Given the description of an element on the screen output the (x, y) to click on. 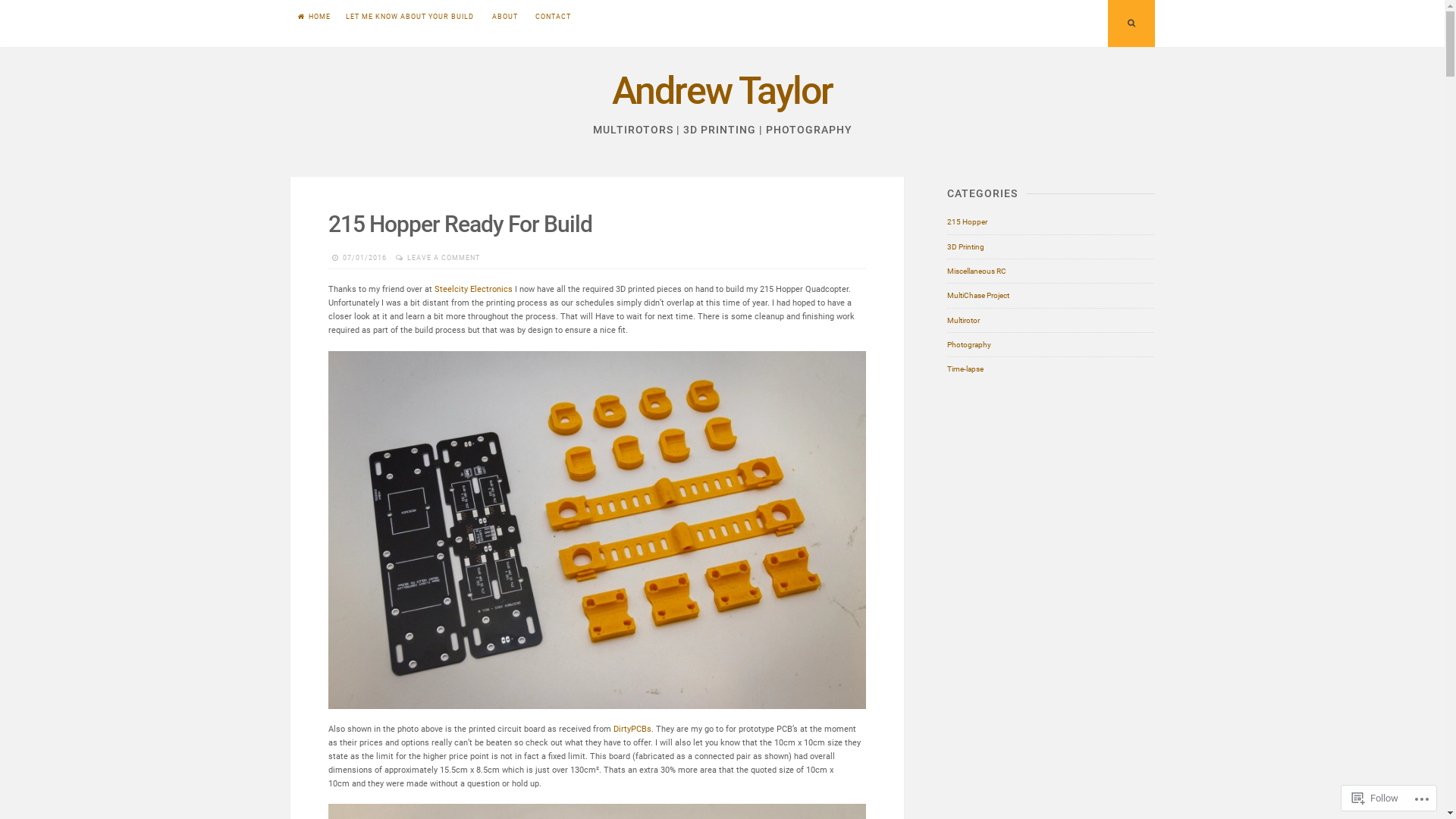
Miscellaneous RC Element type: text (976, 271)
07/01/2016 Element type: text (364, 257)
Follow Element type: text (1375, 797)
Andrew Taylor Element type: text (721, 90)
DirtyPCBs Element type: text (632, 729)
HOME Element type: text (313, 16)
215 Hopper Ready For Build Element type: text (460, 223)
Steelcity Electronics Element type: text (473, 289)
Time-lapse Element type: text (965, 369)
MultiChase Project Element type: text (978, 295)
Photography Element type: text (969, 344)
215 Hopper Element type: text (967, 222)
ABOUT Element type: text (503, 16)
CONTACT Element type: text (552, 16)
Multirotor Element type: text (963, 320)
LET ME KNOW ABOUT YOUR BUILD Element type: text (409, 16)
LEAVE A COMMENT Element type: text (443, 257)
3D Printing Element type: text (965, 247)
